Given the description of an element on the screen output the (x, y) to click on. 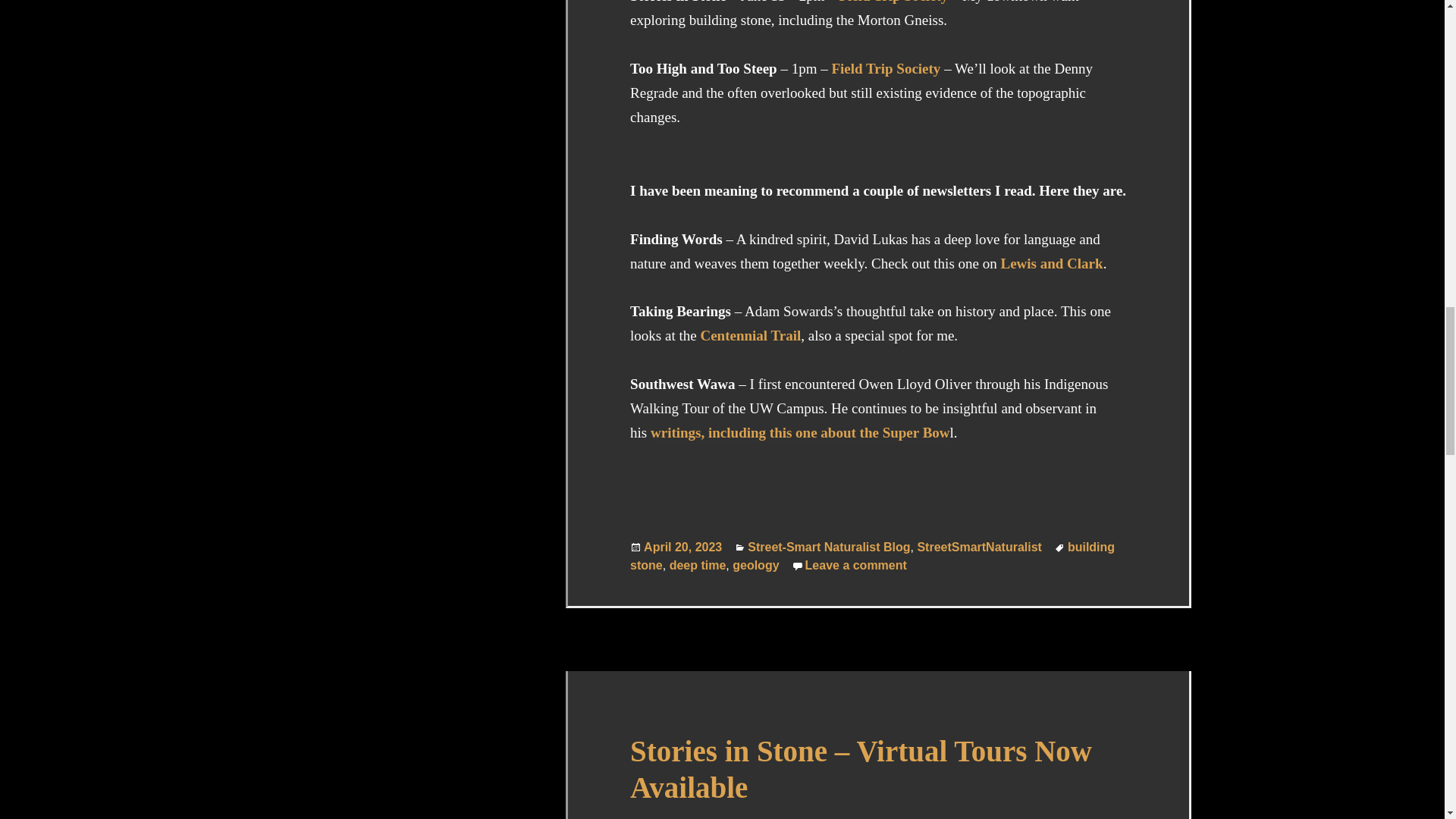
writings, including this one about the Super Bow (800, 433)
building stone (872, 555)
Field Trip Society (856, 564)
Street-Smart Naturalist Blog (892, 2)
StreetSmartNaturalist (829, 546)
geology (979, 546)
Field Trip Society (755, 564)
Centennial Trail (885, 68)
deep time (750, 335)
